Given the description of an element on the screen output the (x, y) to click on. 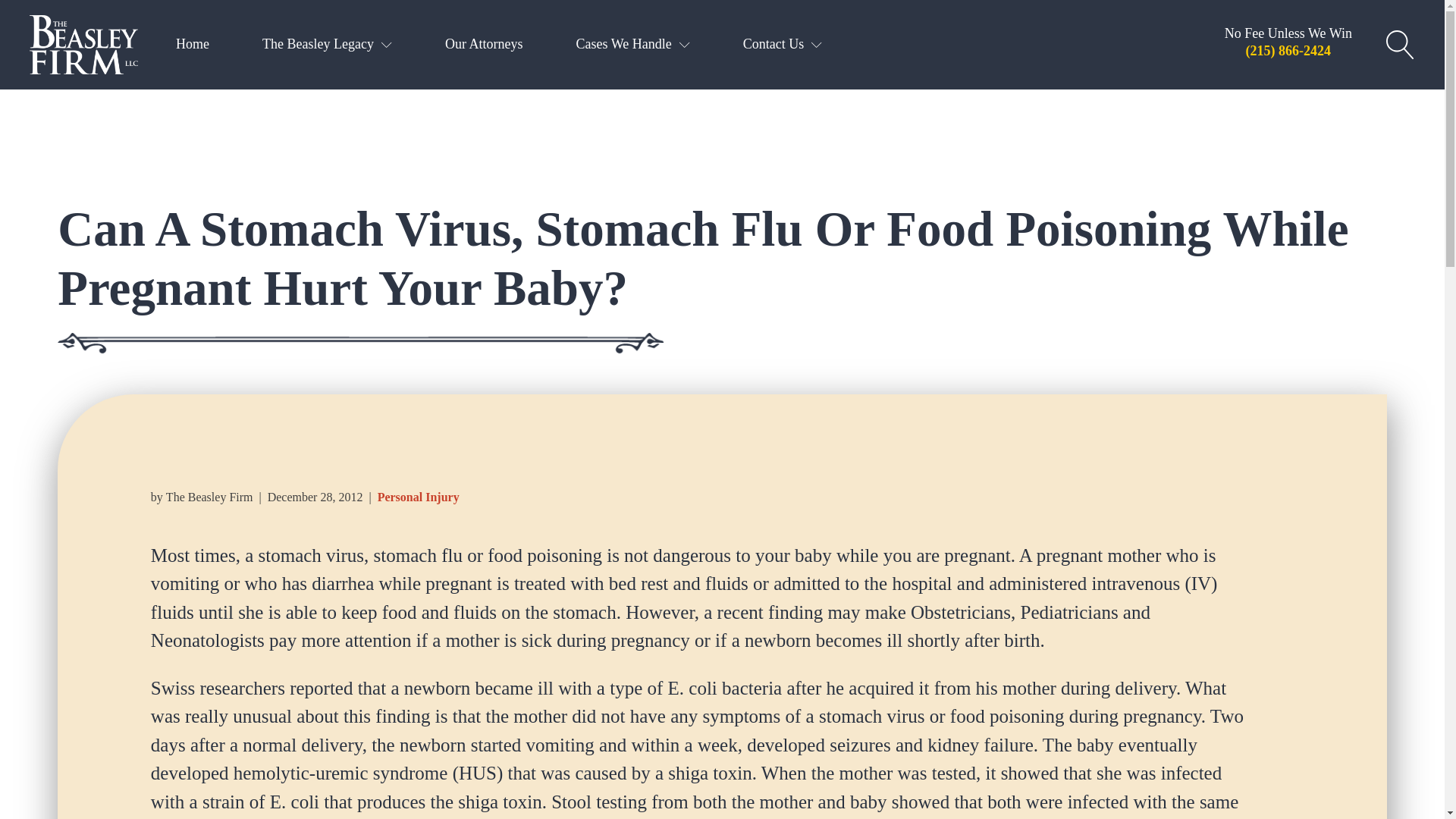
Our Attorneys (487, 44)
The Beasley Legacy (331, 44)
Contact Us (786, 44)
Cases We Handle (636, 44)
Home (196, 44)
